Given the description of an element on the screen output the (x, y) to click on. 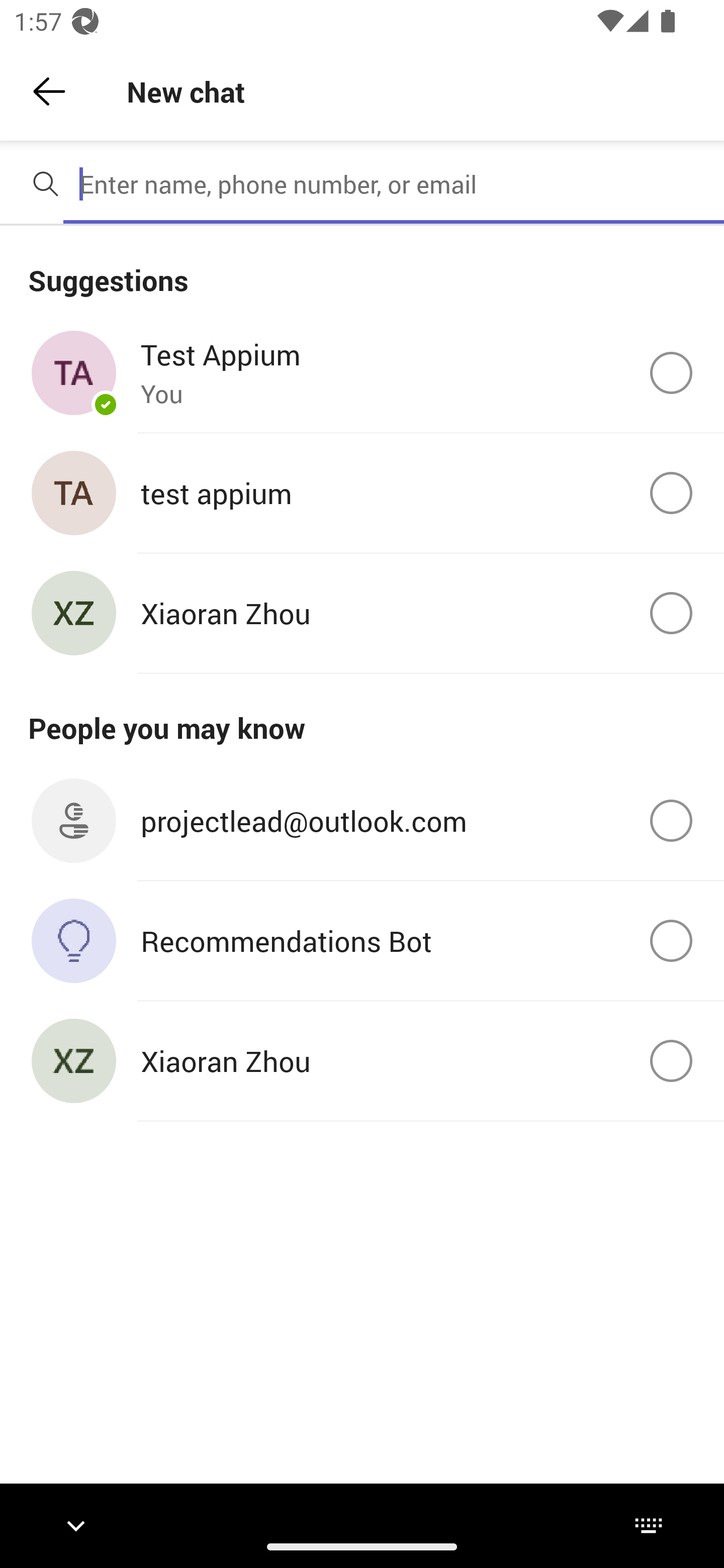
Back (49, 91)
Enter name, phone number, or email (393, 184)
Suggestions section header Suggestions (362, 269)
